Given the description of an element on the screen output the (x, y) to click on. 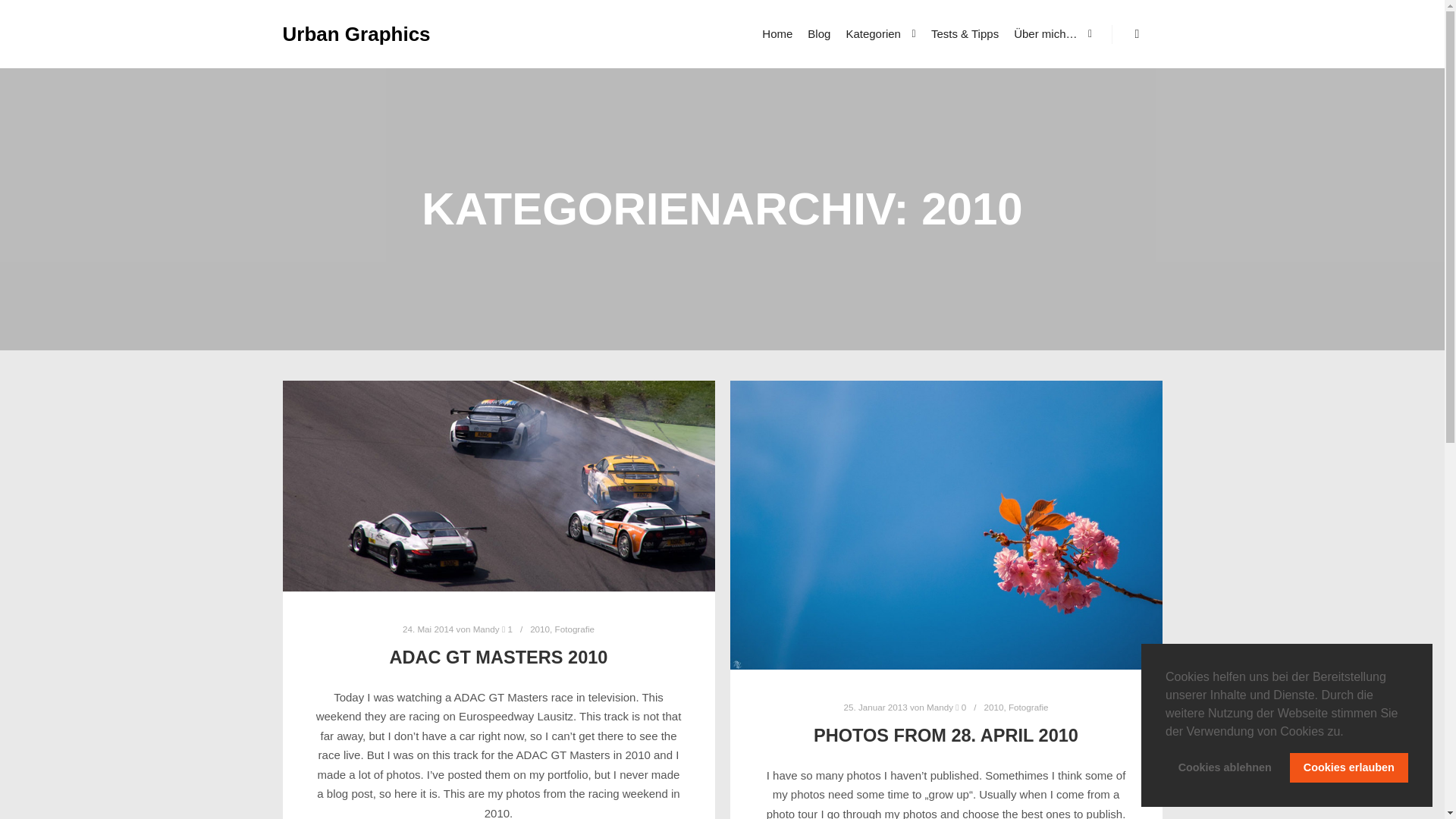
Suchen (1137, 34)
Cookies erlauben (1348, 767)
Cookies ablehnen (1225, 767)
Urban Graphics (355, 33)
Urban Graphics (355, 33)
Kategorien (871, 33)
